Given the description of an element on the screen output the (x, y) to click on. 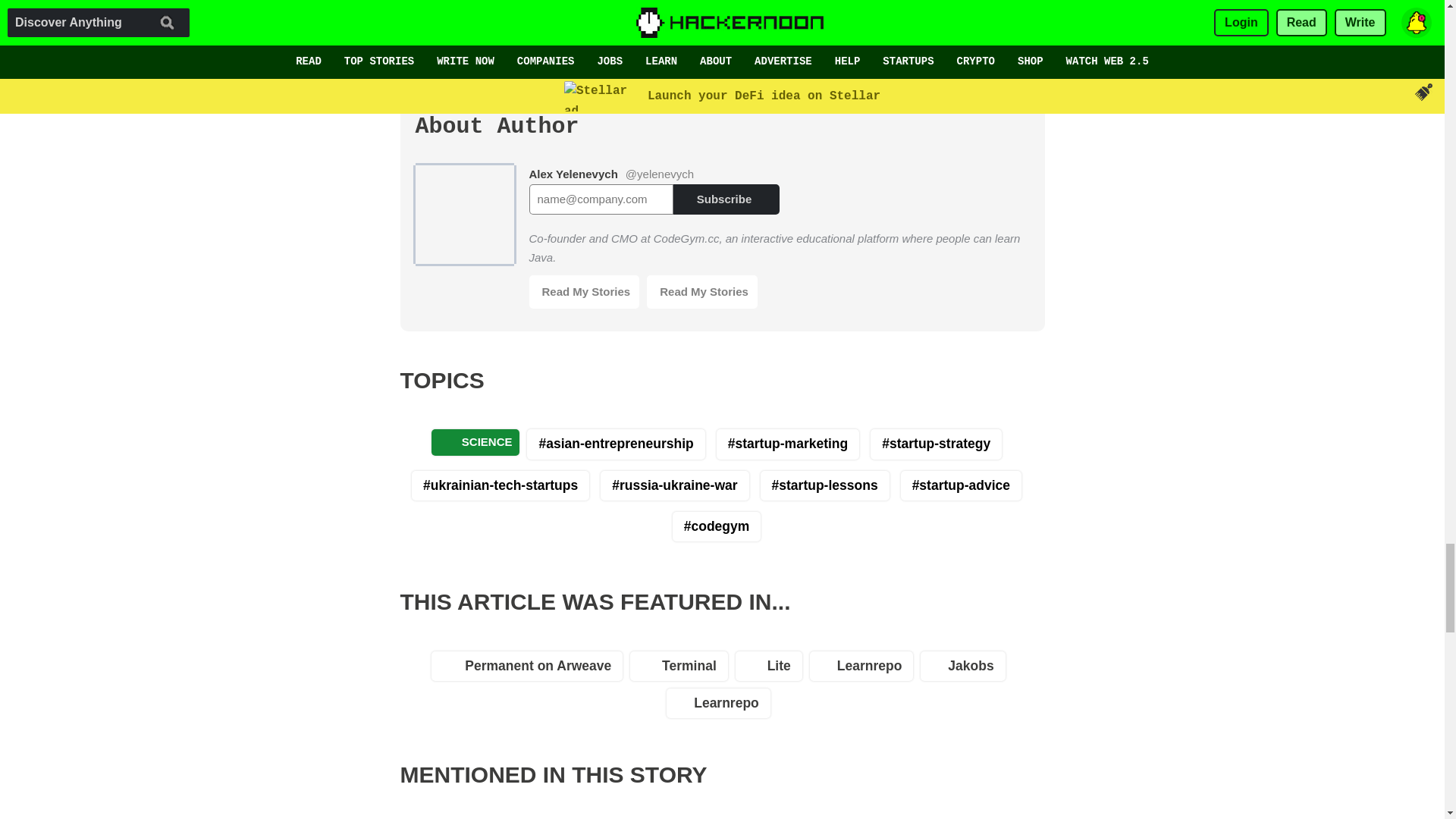
yelenevych (475, 817)
